Given the description of an element on the screen output the (x, y) to click on. 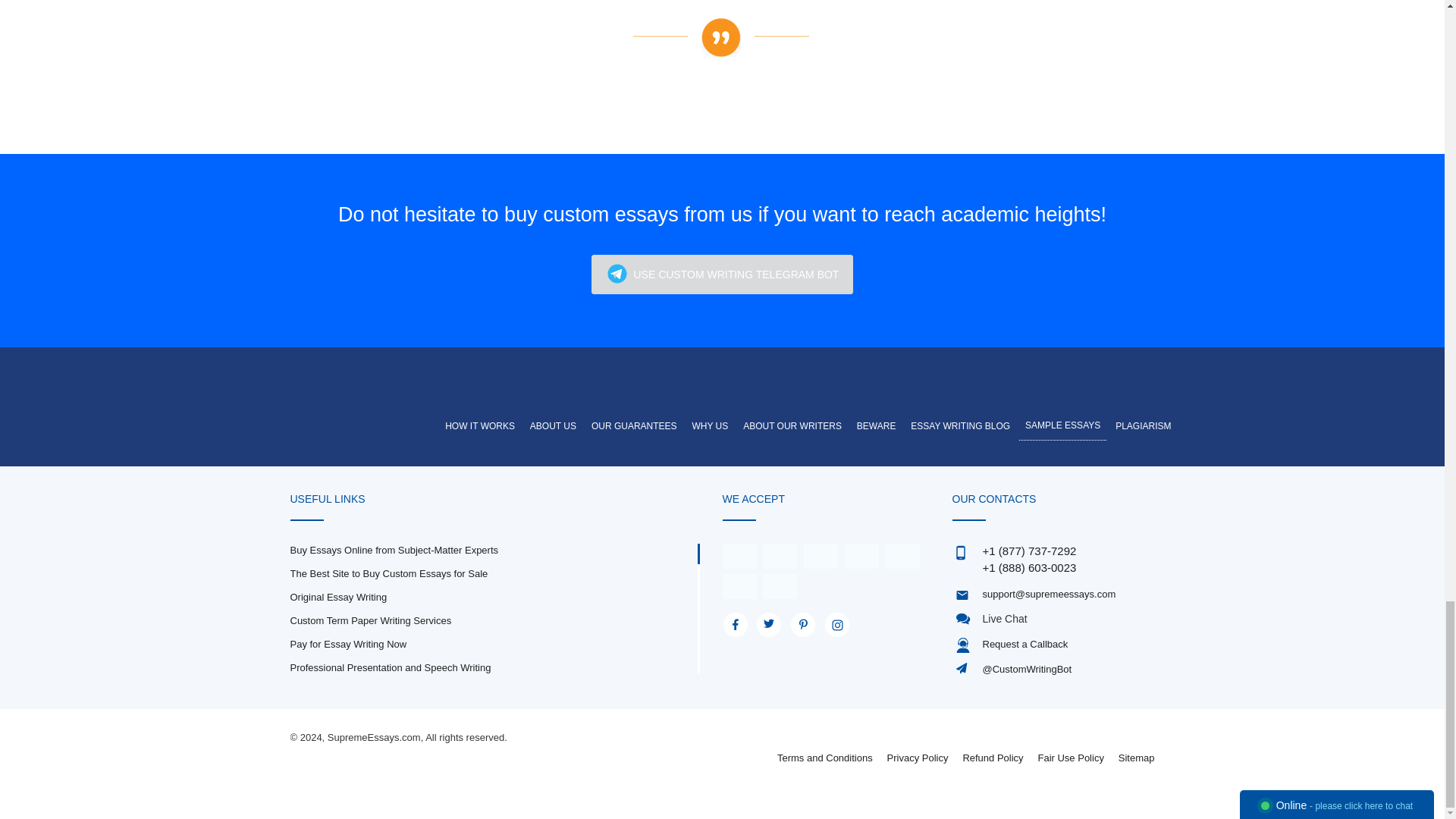
Credit cards by American Express (820, 554)
Credit cards by Discover (902, 554)
Apple pay (861, 554)
Credit and debit cards by Visa (738, 554)
Supremeessays.com (374, 390)
Credit cards by JCB (779, 585)
Credit cards by Diners Club (738, 585)
Credit and debit cards by MasterCard (779, 554)
